Given the description of an element on the screen output the (x, y) to click on. 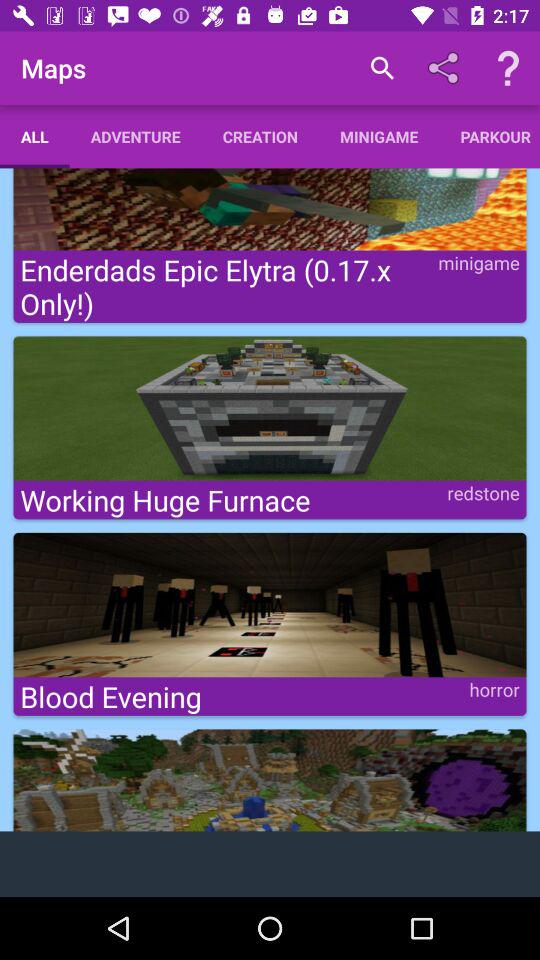
open the adventure (135, 136)
